Given the description of an element on the screen output the (x, y) to click on. 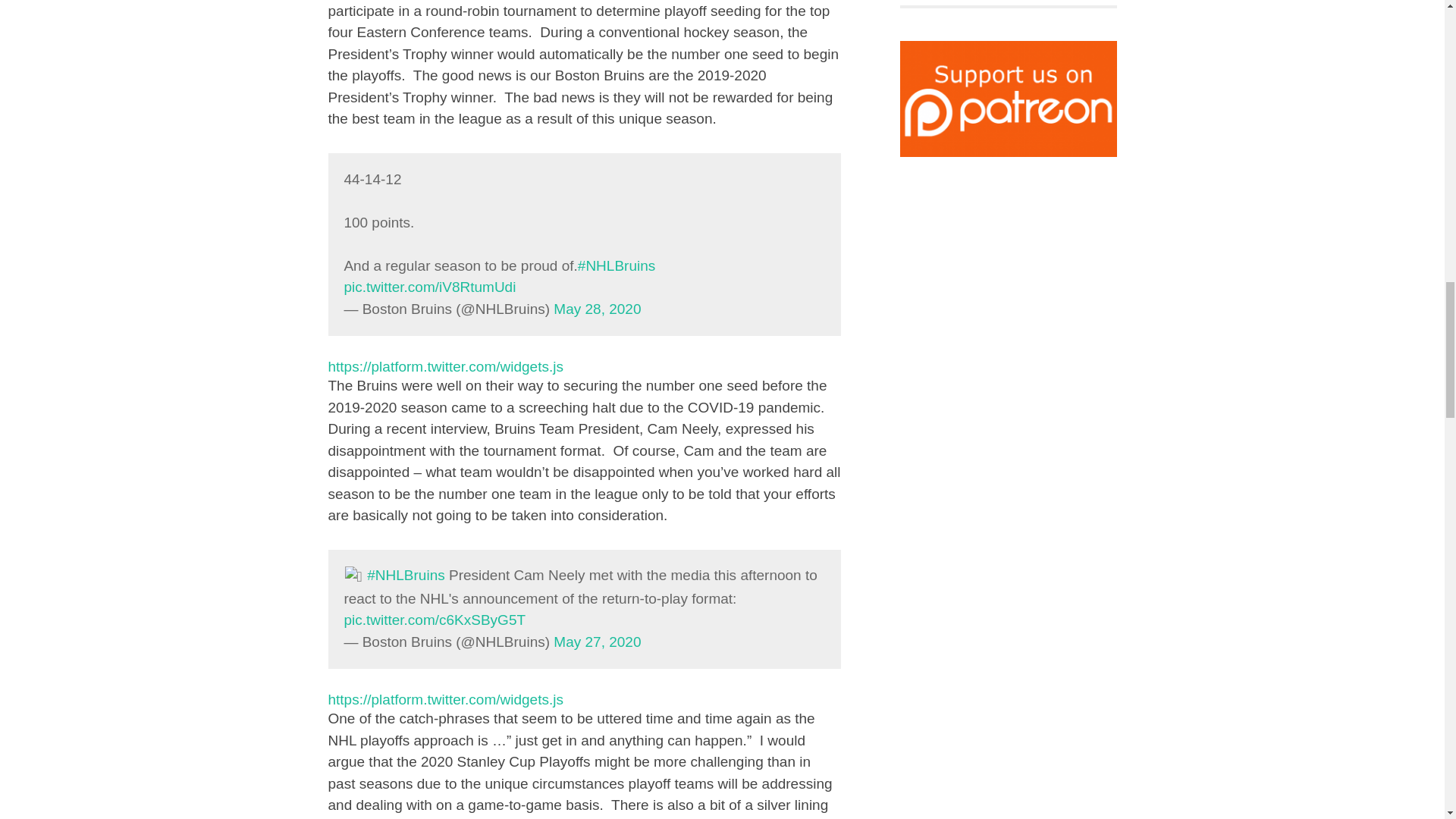
May 28, 2020 (596, 308)
